Given the description of an element on the screen output the (x, y) to click on. 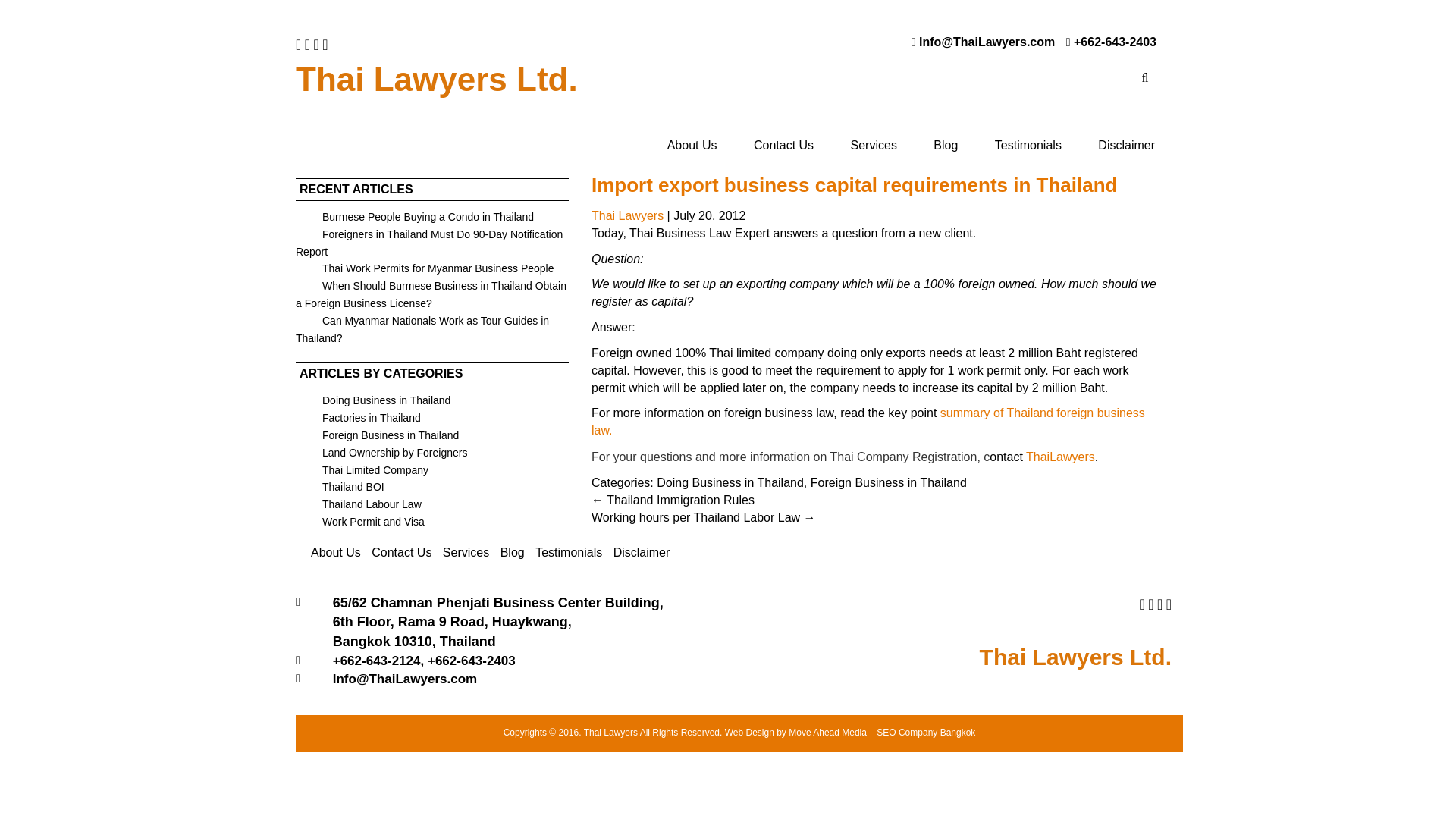
Thailand Labour Law (358, 503)
Disclaimer (1126, 145)
Import export business capital requirements in Thailand (853, 184)
Foreign Business in Thailand (376, 435)
About Us (691, 145)
Burmese People Buying a Condo in Thailand (414, 216)
Work Permit and Visa (360, 521)
Thai Lawyers (627, 215)
Thai Limited Company (361, 469)
